Given the description of an element on the screen output the (x, y) to click on. 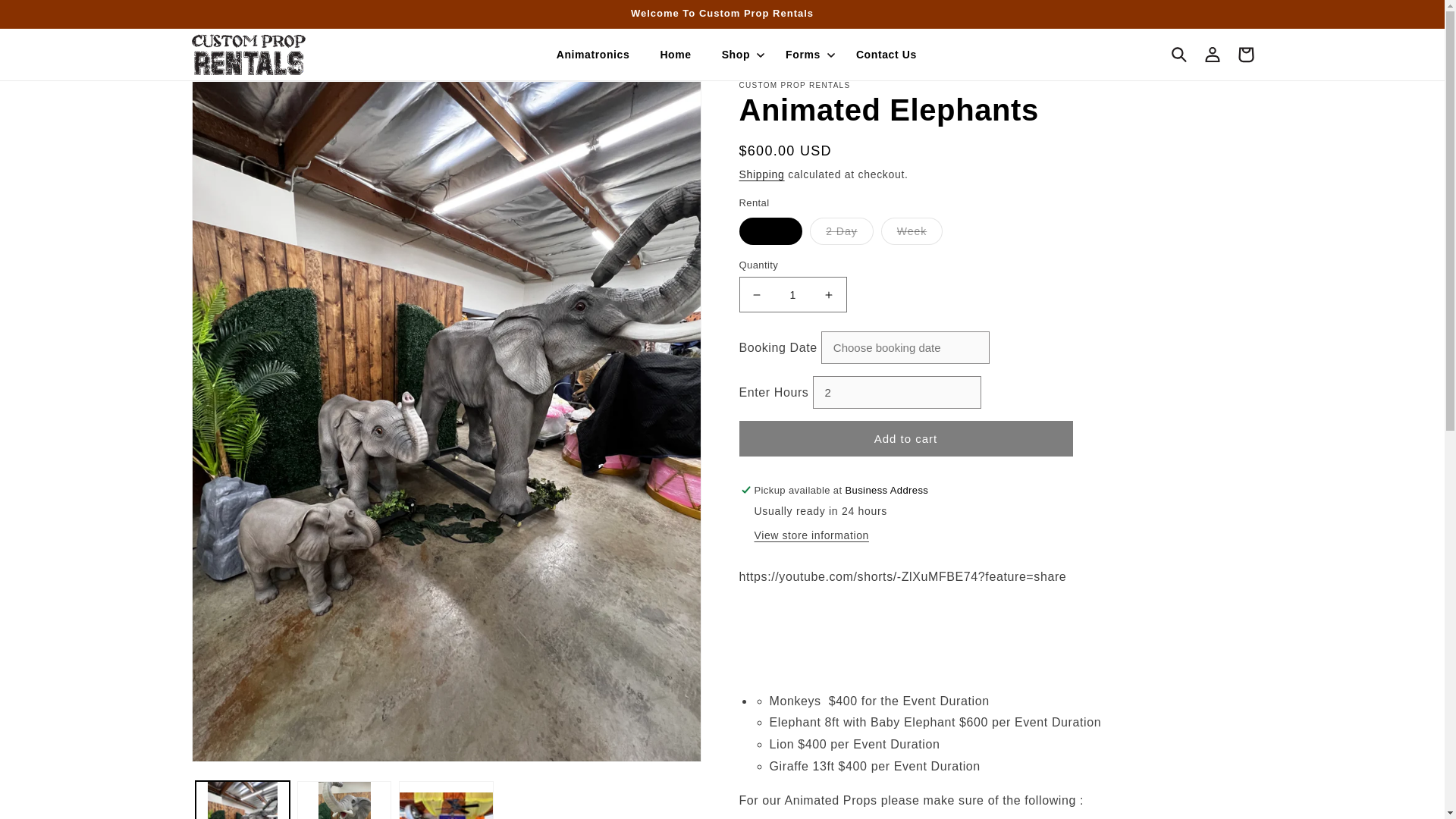
Animatronics (593, 54)
1 (791, 294)
2 (896, 391)
Home (675, 54)
Skip to content (45, 17)
